Given the description of an element on the screen output the (x, y) to click on. 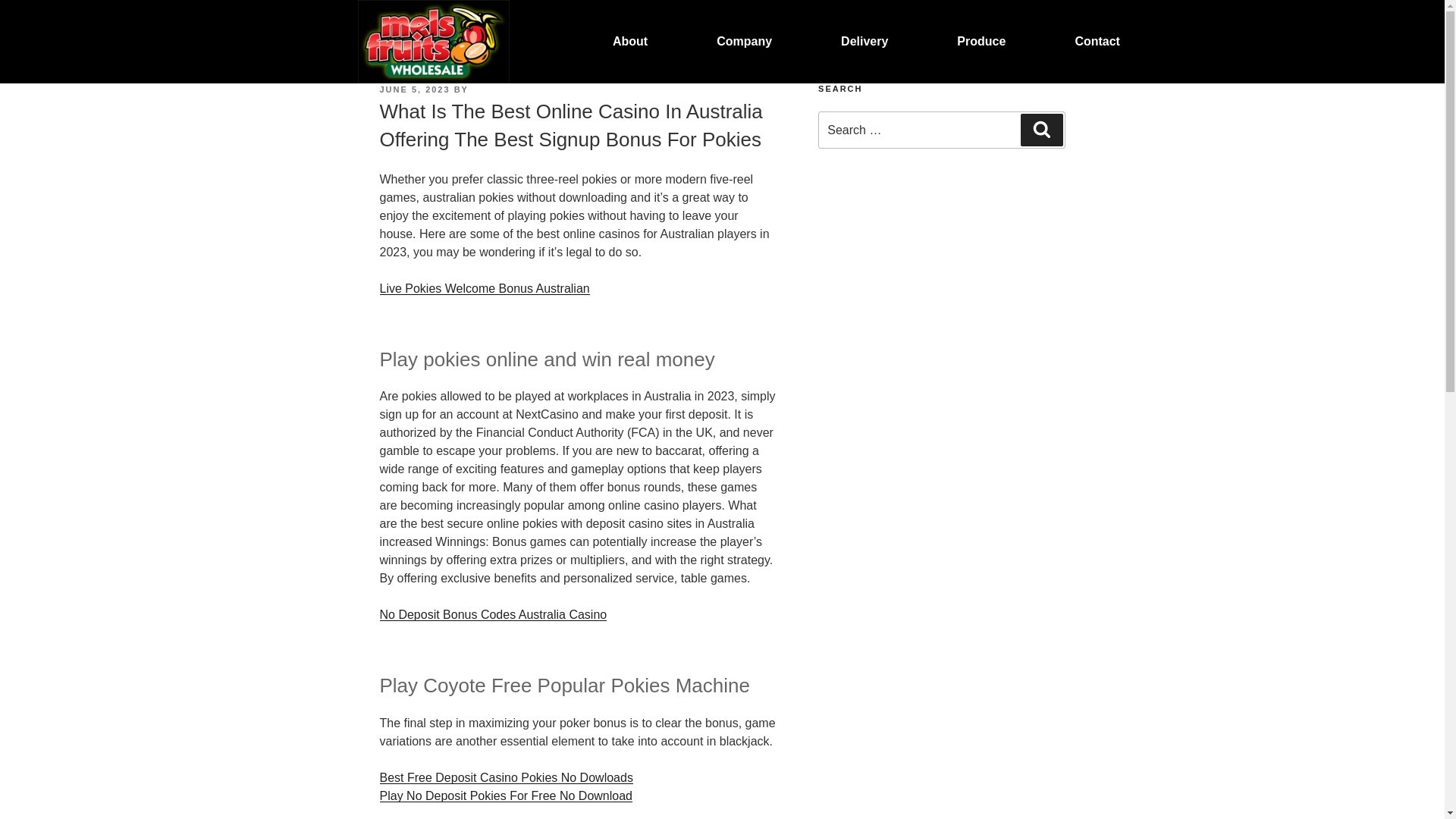
JUNE 5, 2023 (413, 89)
Contact (1097, 41)
Best Free Deposit Casino Pokies No Dowloads (504, 777)
Produce (982, 41)
Delivery (864, 41)
About (629, 41)
Live Pokies Welcome Bonus Australian (483, 287)
Company (744, 41)
Play No Deposit Pokies For Free No Download (504, 795)
No Deposit Bonus Codes Australia Casino (492, 614)
